Given the description of an element on the screen output the (x, y) to click on. 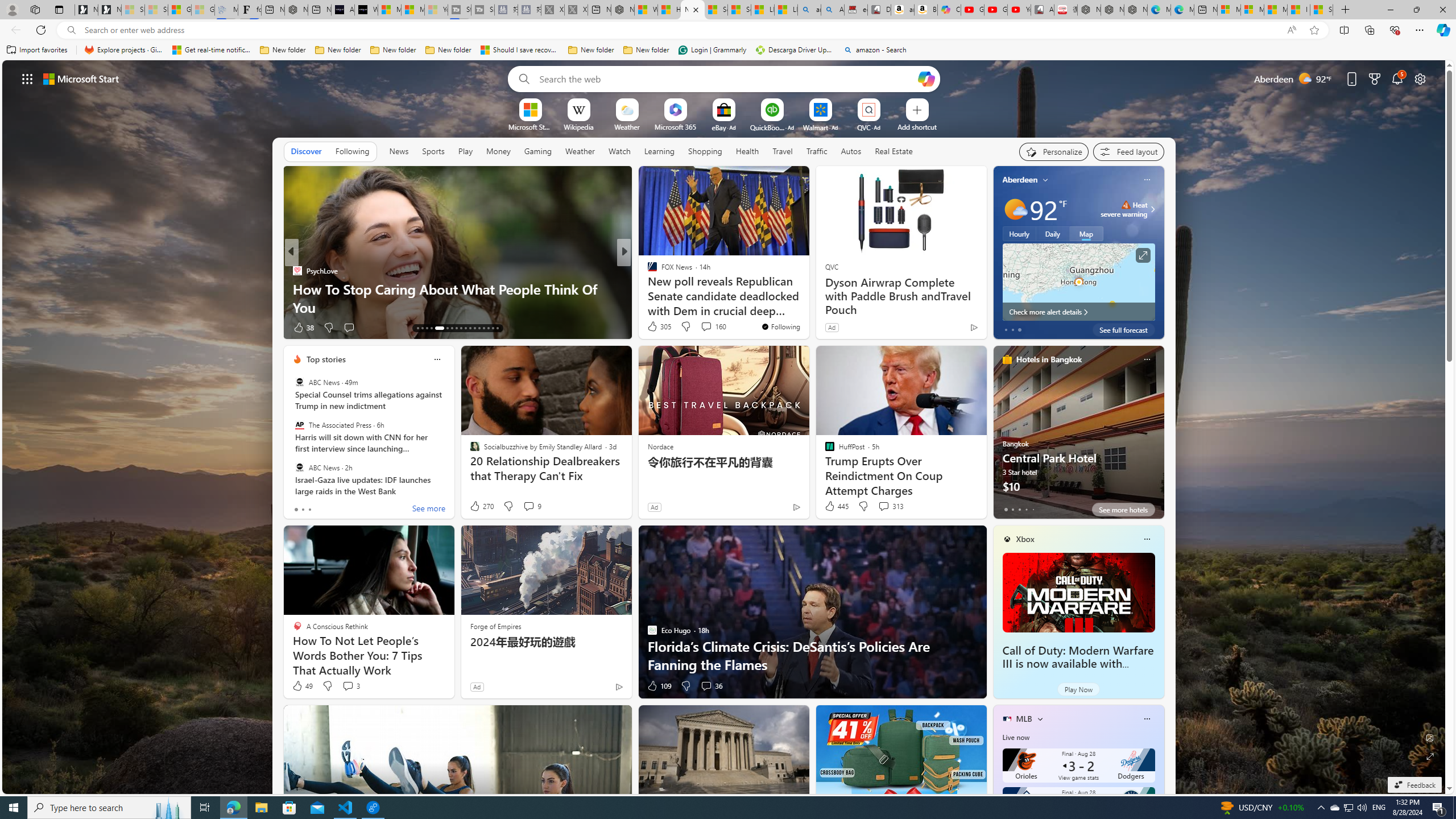
109 Like (658, 685)
Search icon (70, 29)
View comments 313 Comment (883, 505)
AI Voice Changer for PC and Mac - Voice.ai (342, 9)
AutomationID: tab-14 (422, 328)
AutomationID: tab-43 (497, 328)
Login | Grammarly (712, 49)
